Given the description of an element on the screen output the (x, y) to click on. 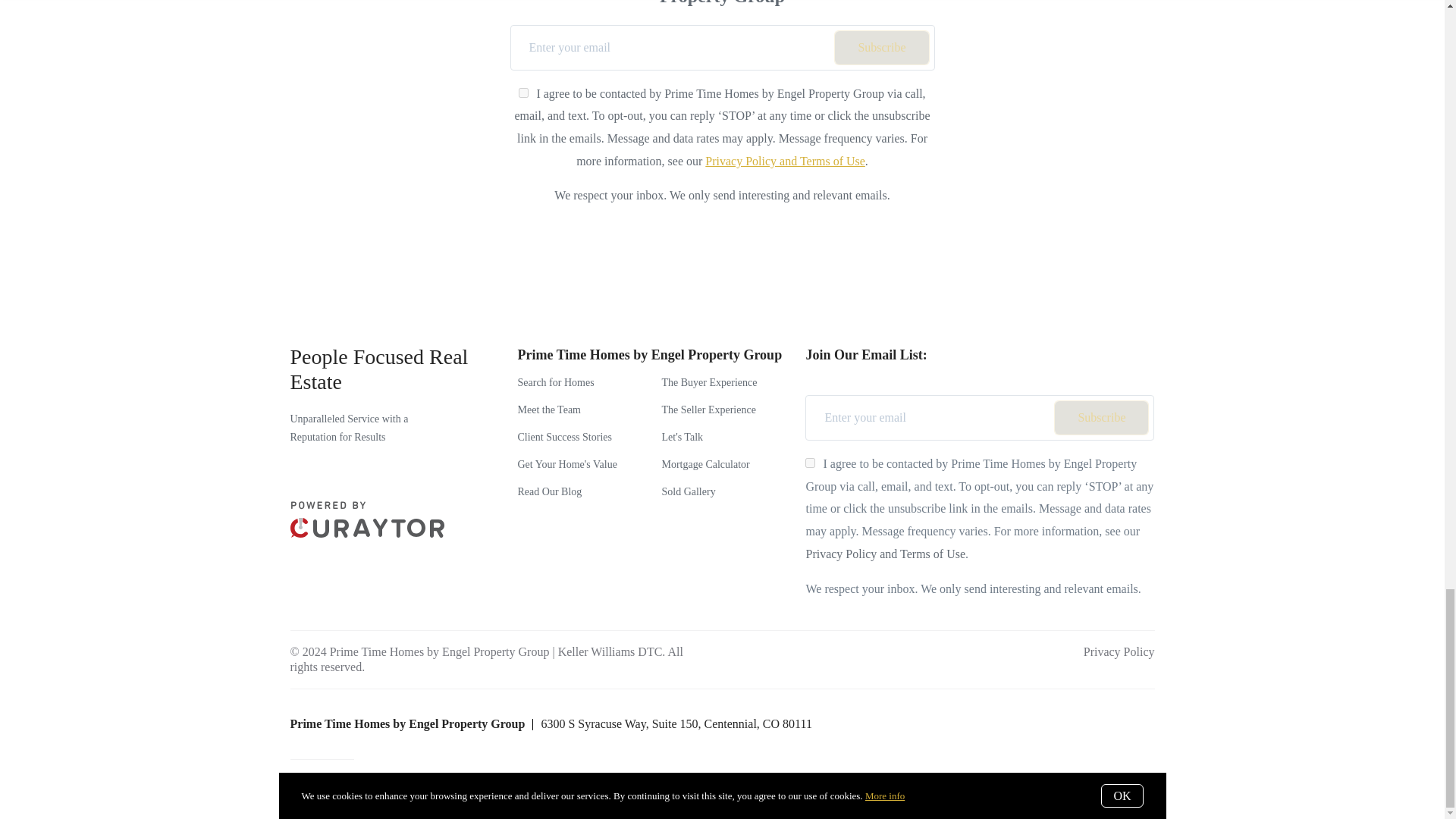
curaytor-horizontal (366, 519)
on (810, 462)
on (523, 92)
